Given the description of an element on the screen output the (x, y) to click on. 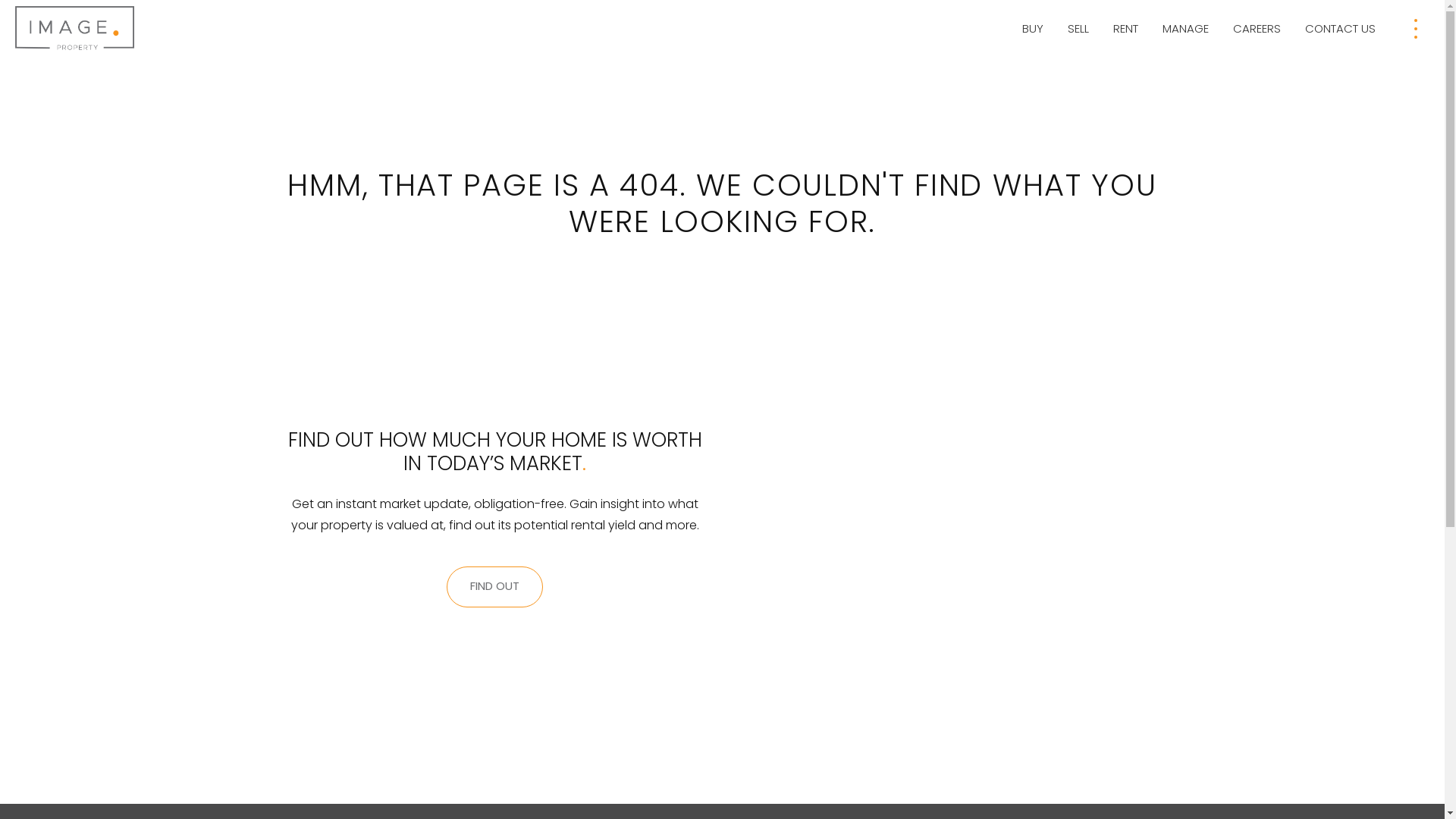
CAREERS Element type: text (1256, 28)
CONTACT US Element type: text (1340, 28)
RENT Element type: text (1125, 28)
FIND OUT Element type: text (494, 586)
SELL Element type: text (1078, 28)
BUY Element type: text (1032, 28)
MANAGE Element type: text (1185, 28)
